Given the description of an element on the screen output the (x, y) to click on. 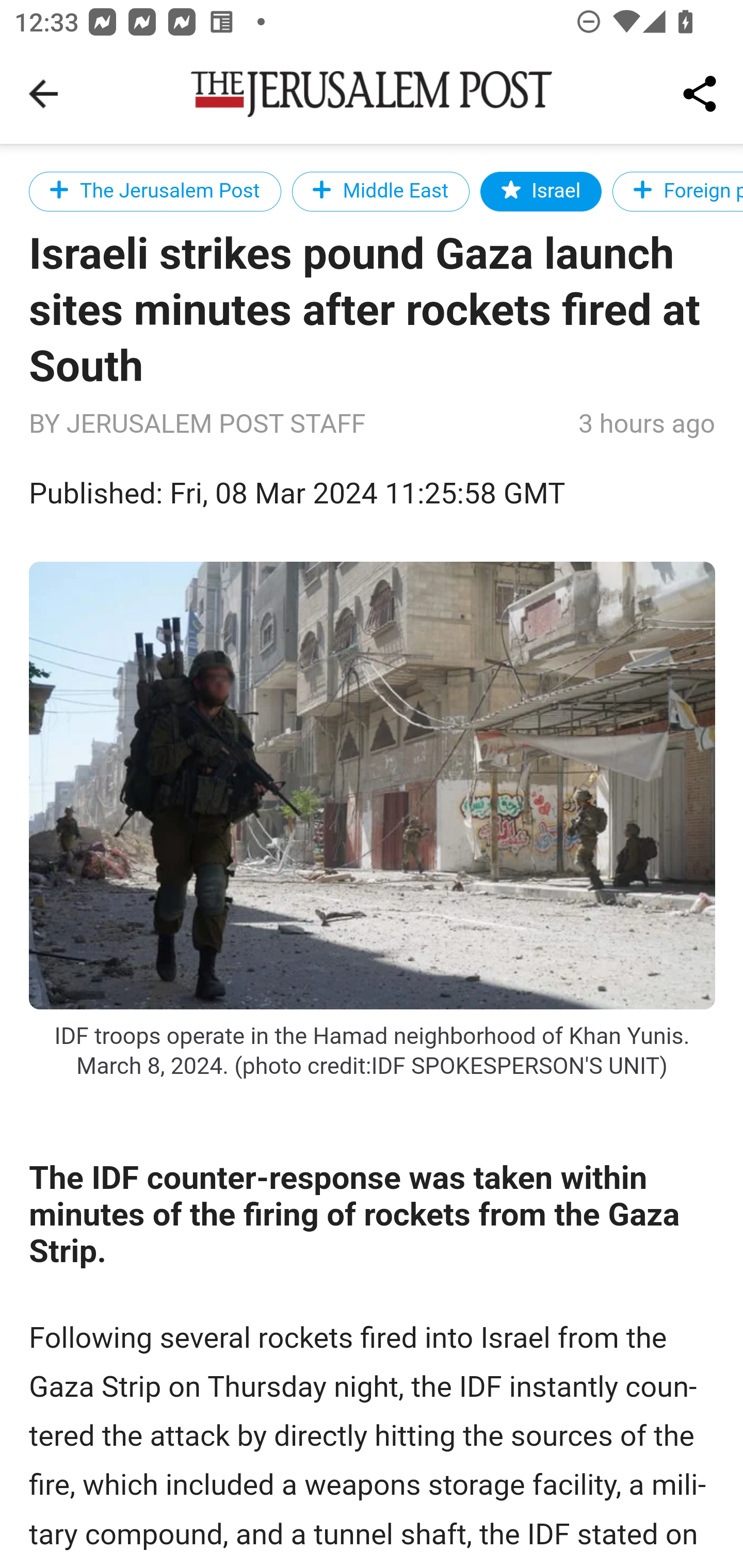
The Jerusalem Post (154, 191)
Middle East (380, 191)
Israel (541, 191)
Foreign policy (677, 191)
